Given the description of an element on the screen output the (x, y) to click on. 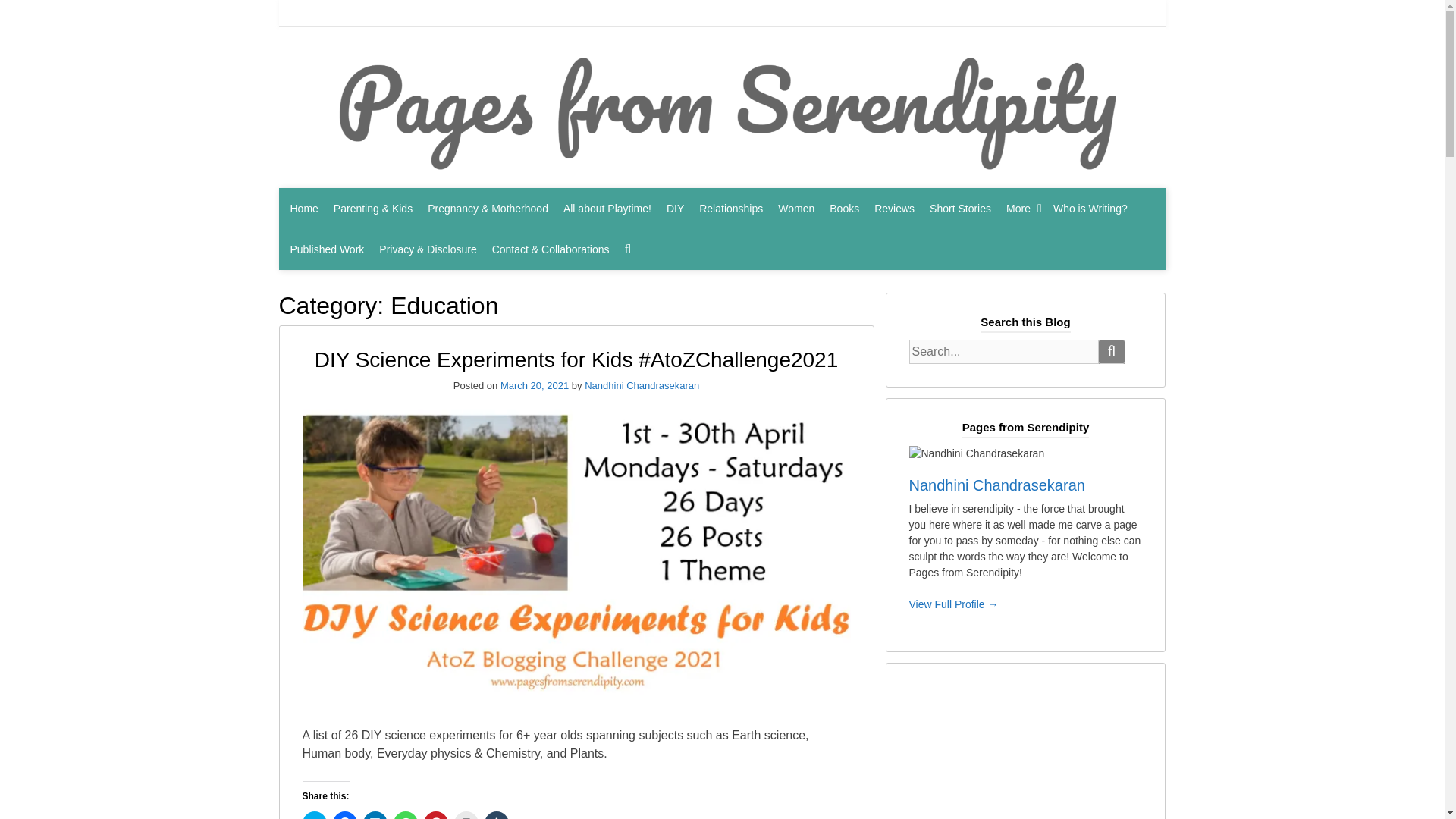
March 20, 2021 (534, 385)
Short Stories (960, 208)
Who is Writing? (1089, 208)
Relationships (730, 208)
Click to share on Facebook (343, 815)
Click to share on Tumblr (495, 815)
Search (1111, 351)
Search (1111, 351)
Reviews (894, 208)
All about Playtime! (606, 208)
Click to share on LinkedIn (374, 815)
Click to share on WhatsApp (404, 815)
Nandhini Chandrasekaran (641, 385)
Click to print (464, 815)
Click to share on Pinterest (434, 815)
